Given the description of an element on the screen output the (x, y) to click on. 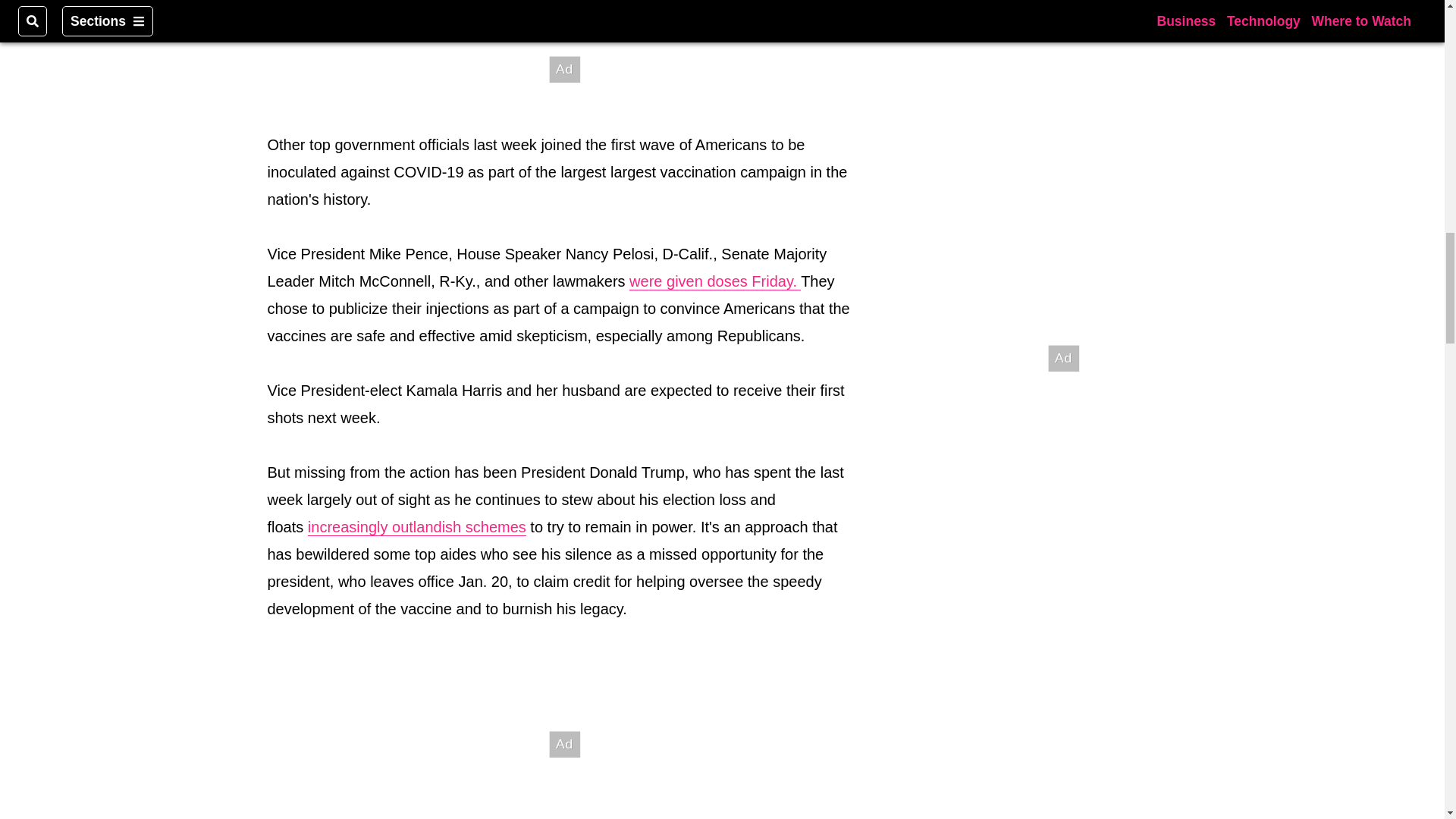
were given doses Friday.  (714, 281)
increasingly outlandish schemes (416, 527)
